Given the description of an element on the screen output the (x, y) to click on. 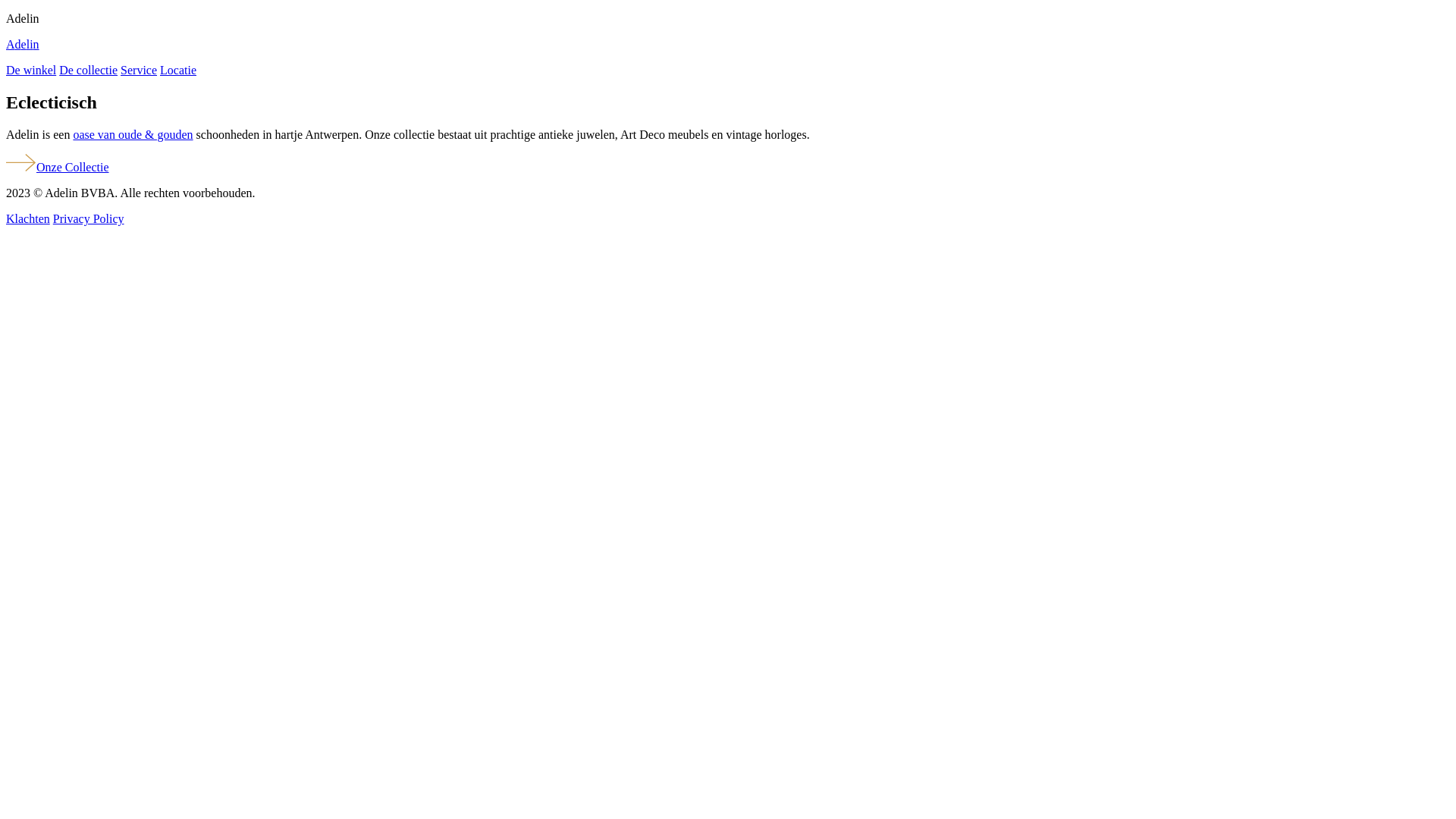
Onze Collectie Element type: text (57, 166)
De winkel Element type: text (31, 69)
Klachten Element type: text (28, 218)
Adelin Element type: text (727, 44)
Privacy Policy Element type: text (88, 218)
De collectie Element type: text (88, 69)
Service Element type: text (138, 69)
Locatie Element type: text (178, 69)
oase van oude & gouden Element type: text (132, 134)
